Given the description of an element on the screen output the (x, y) to click on. 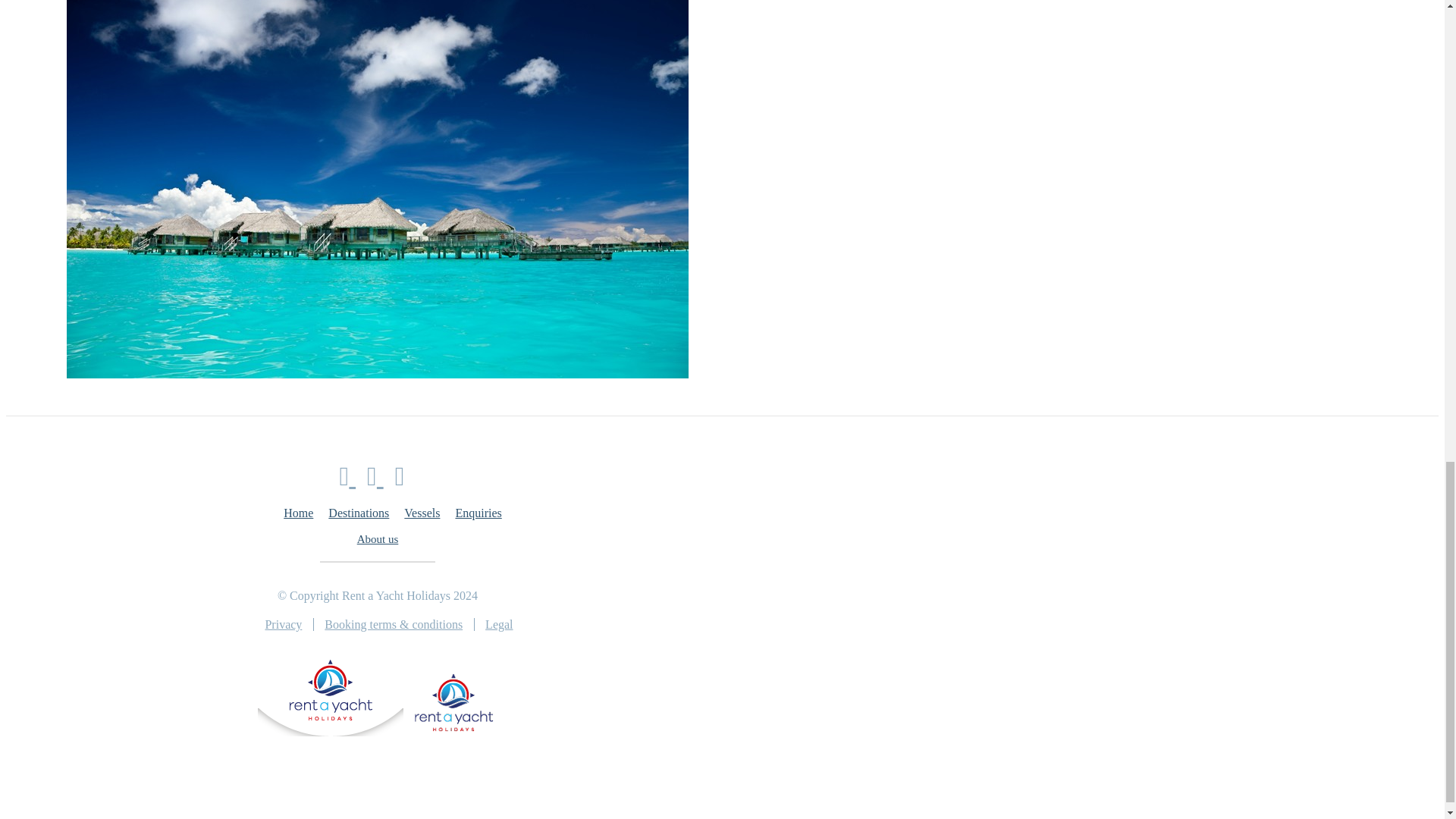
Legal (498, 624)
Home (298, 512)
Destinations (358, 512)
Vessels (421, 512)
Enquiries (477, 512)
About us (377, 539)
Privacy (289, 624)
